Given the description of an element on the screen output the (x, y) to click on. 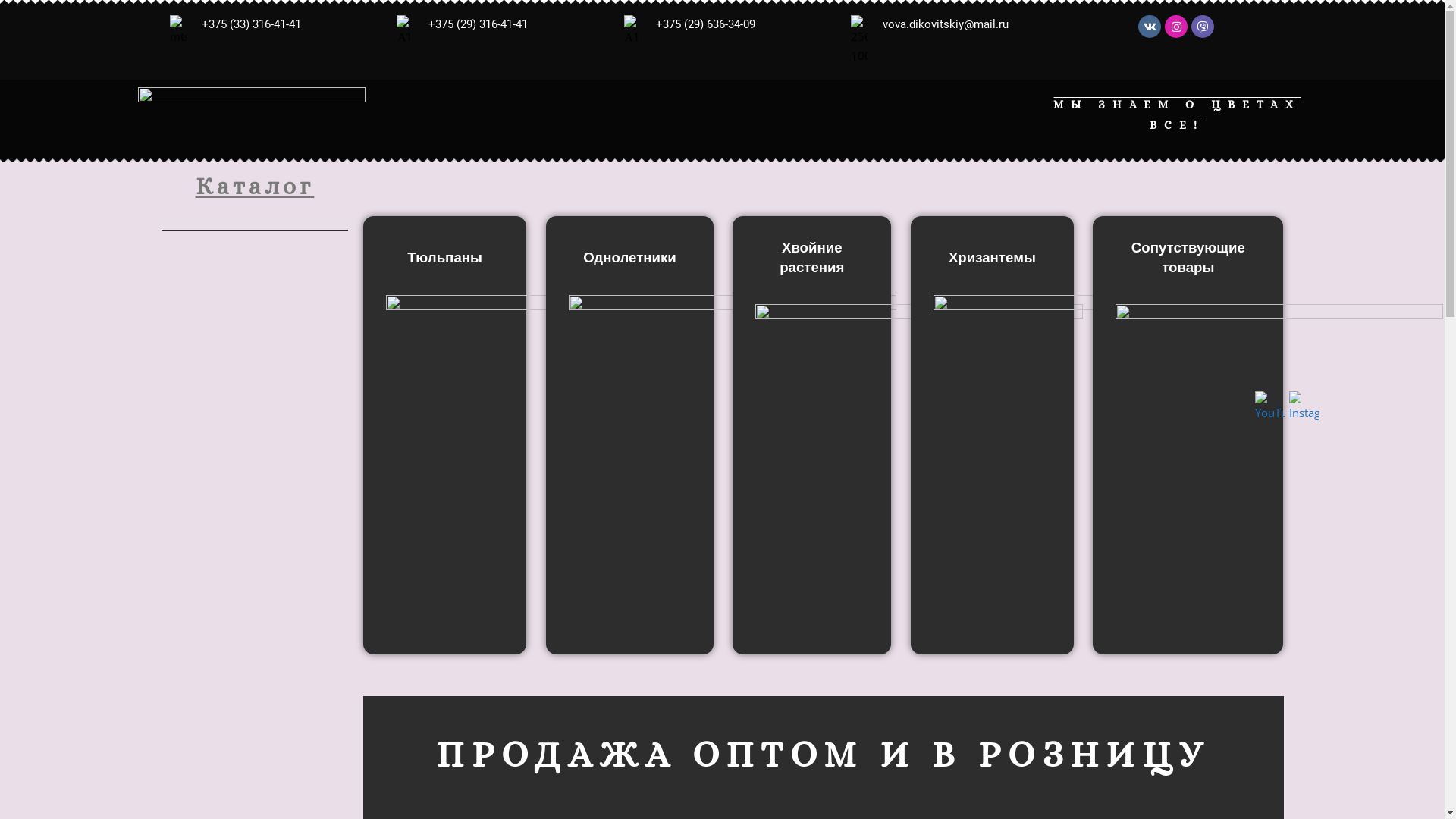
Instagram Element type: hover (1304, 406)
+375 (29) 316-41-41 Element type: text (477, 24)
+375 (29) 636-34-09 Element type: text (705, 24)
mts Element type: hover (177, 30)
vova.dikovitskiy@mail.ru Element type: text (945, 24)
YouTube Element type: hover (1270, 406)
+375 (33) 316-41-41 Element type: text (251, 24)
